Given the description of an element on the screen output the (x, y) to click on. 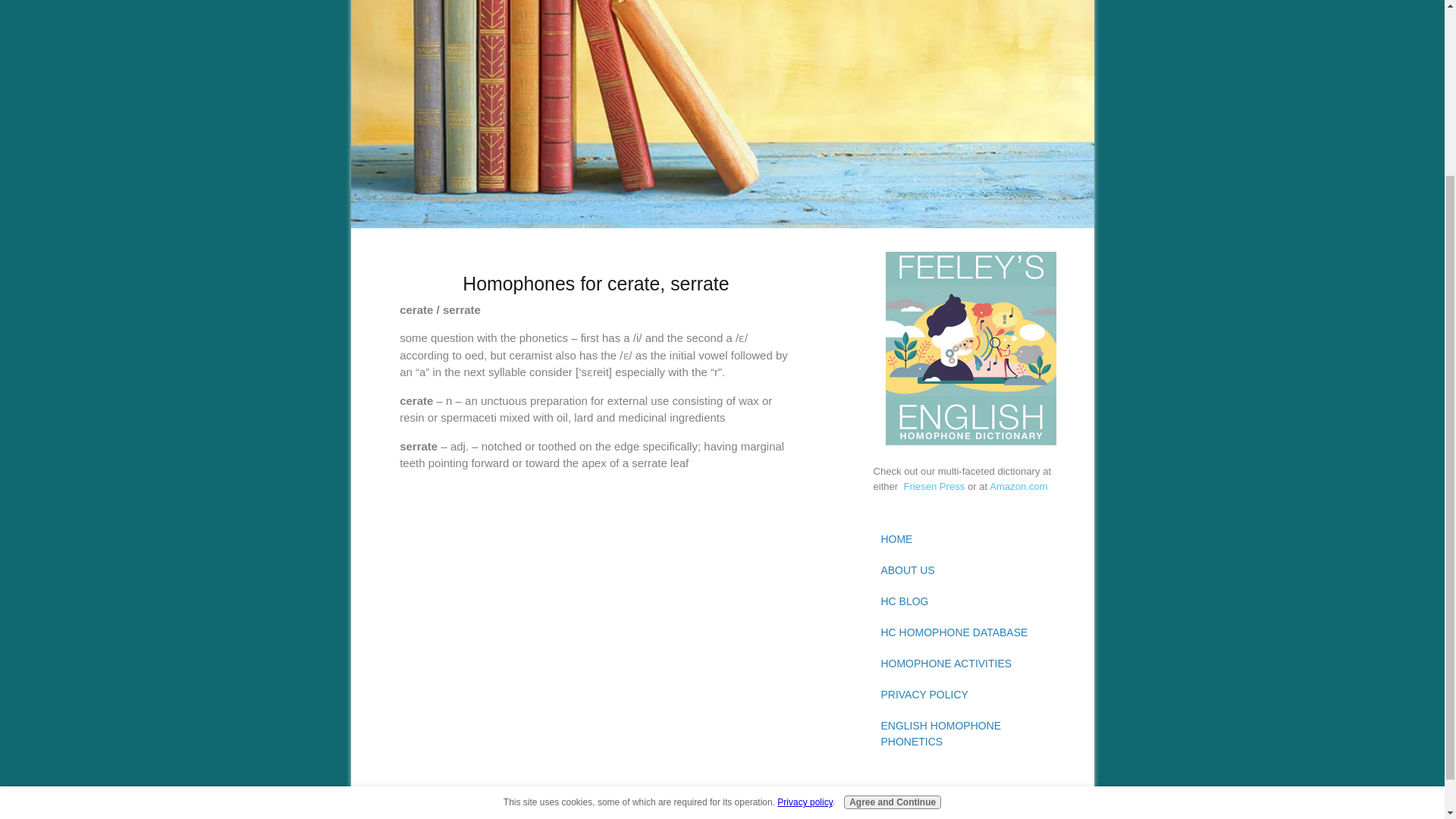
Amazon.com (1019, 486)
Friesen Press (936, 486)
ENGLISH HOMOPHONE PHONETICS (970, 733)
PRIVACY POLICY (970, 694)
HOMOPHONE ACTIVITIES (970, 663)
HC HOMOPHONE DATABASE (970, 632)
Agree and Continue (892, 578)
HC BLOG (970, 601)
ABOUT US (970, 570)
HOME (970, 539)
Privacy policy (804, 578)
